Given the description of an element on the screen output the (x, y) to click on. 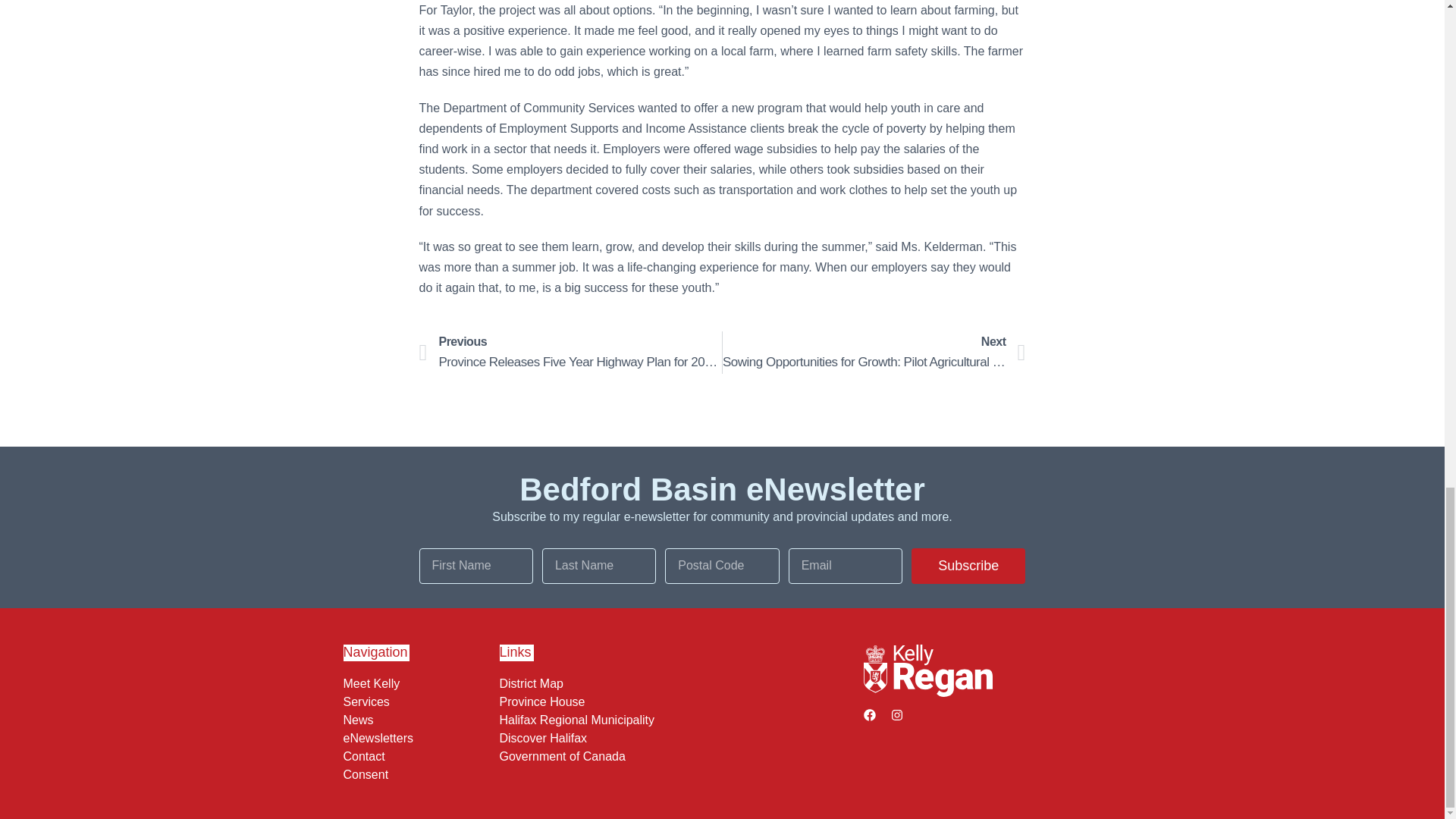
Province House (677, 701)
Contact (417, 755)
Services (417, 701)
Discover Halifax (677, 737)
eNewsletters (417, 737)
News (417, 719)
District Map (677, 683)
Government of Canada (677, 755)
